Given the description of an element on the screen output the (x, y) to click on. 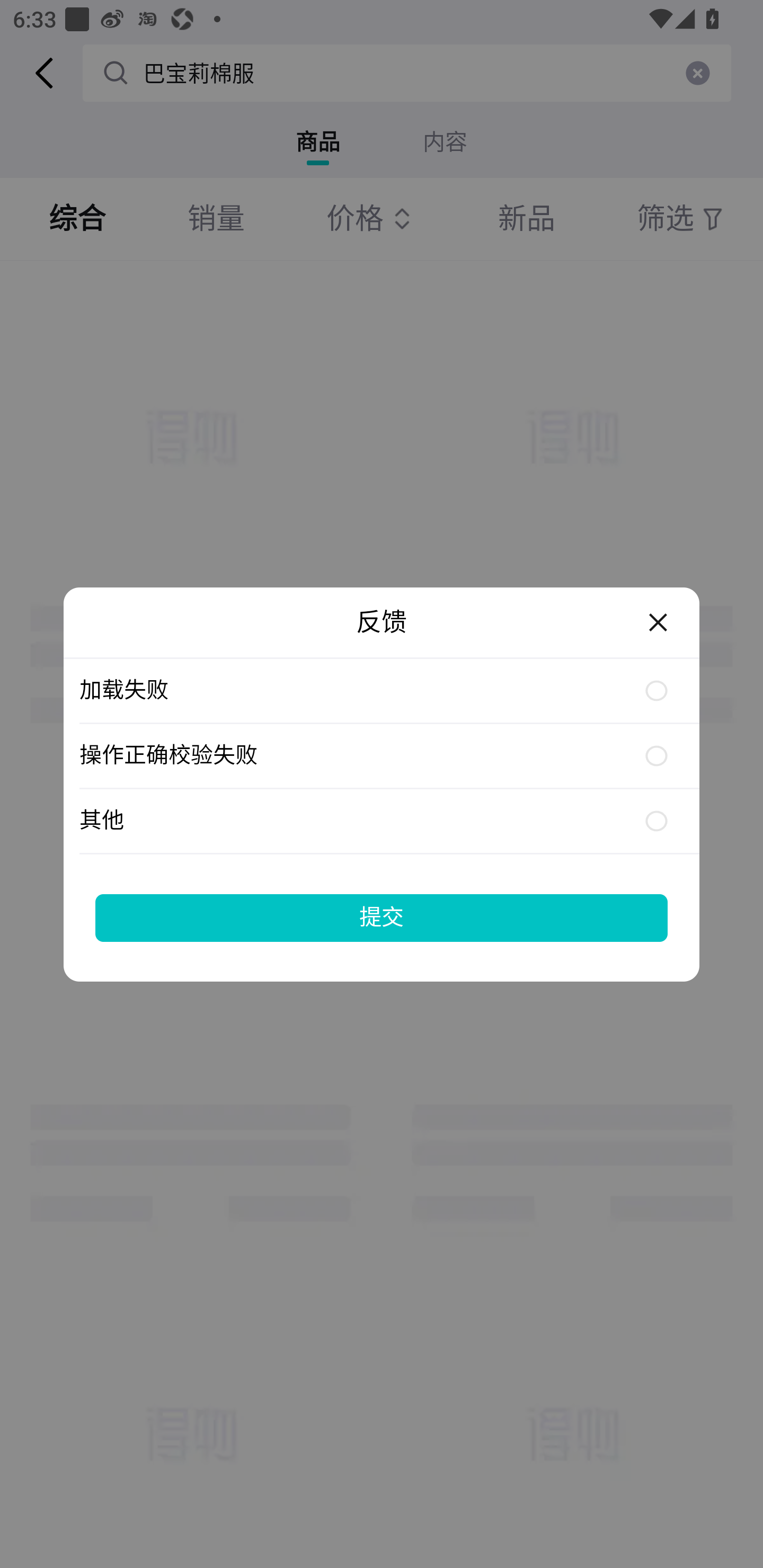
提交 (381, 917)
